Given the description of an element on the screen output the (x, y) to click on. 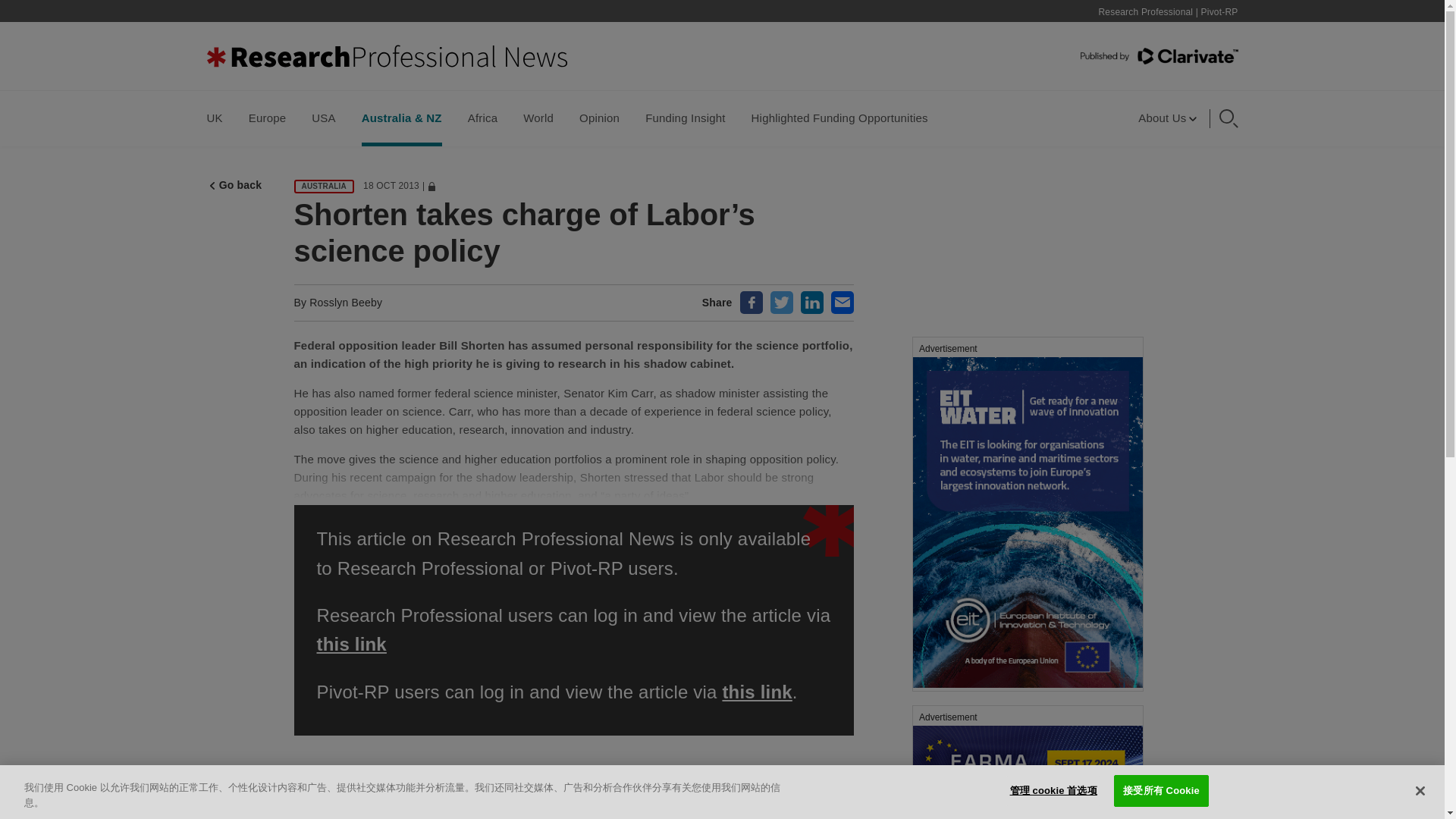
3rd party ad content (1026, 762)
Pivot-RP (1220, 11)
Share via email (842, 302)
Funding Insight (685, 118)
this link (757, 691)
AUSTRALIA (324, 186)
Share on Twitter (781, 302)
this link (352, 643)
Share on Linkedin (812, 302)
Search (921, 115)
